Given the description of an element on the screen output the (x, y) to click on. 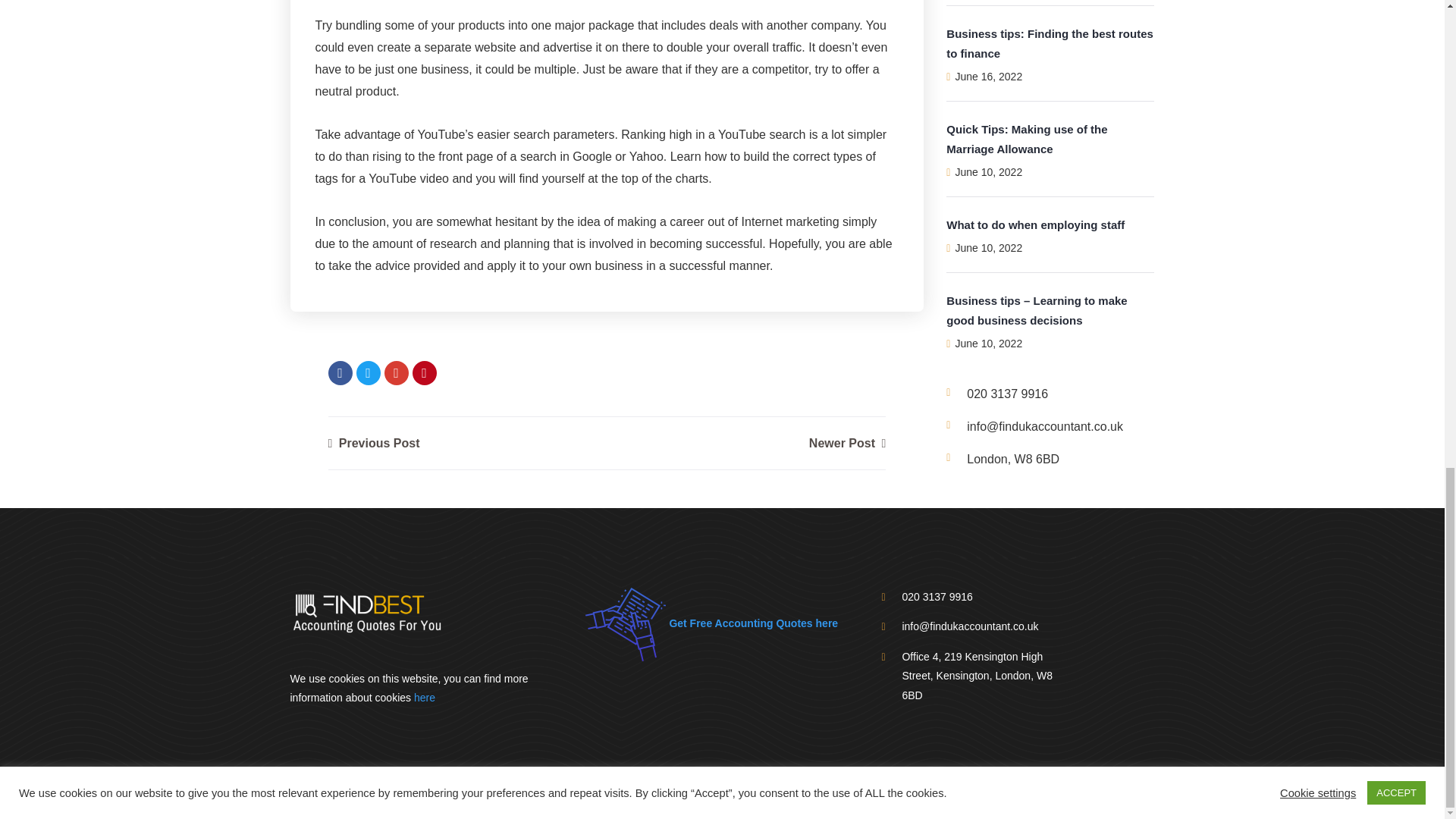
Disclaimer (815, 794)
Privacy Policy (890, 794)
Facebook (339, 372)
Terms and conditions (989, 794)
Get Free Accounting Quotes here (711, 623)
Twitter (368, 372)
Google Plus (395, 372)
Newer Post (847, 442)
Pinterest (424, 372)
Previous Post (373, 442)
Accessibility (744, 794)
here (424, 697)
